Given the description of an element on the screen output the (x, y) to click on. 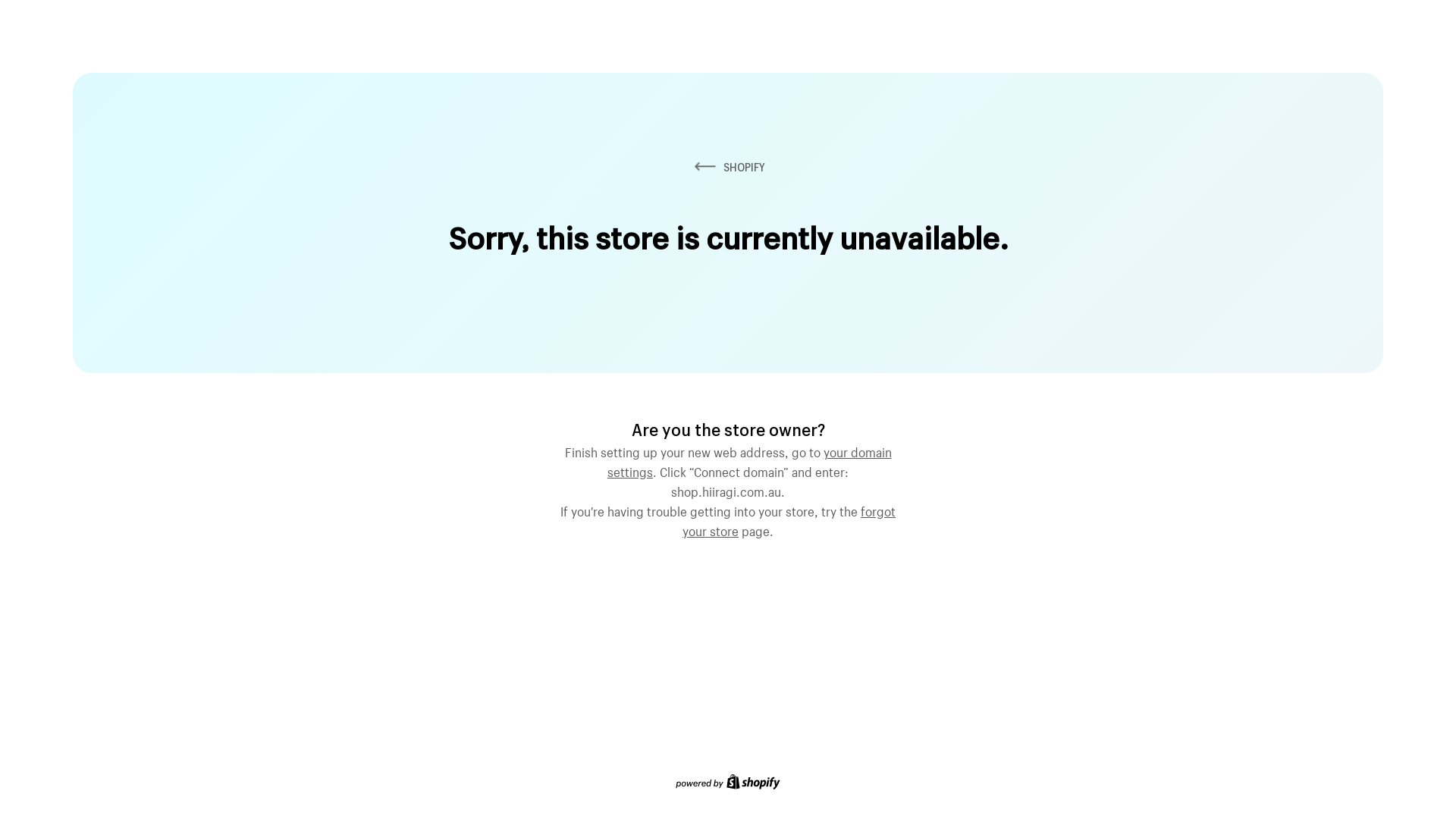
forgot your store Element type: text (788, 519)
your domain settings Element type: text (749, 460)
SHOPIFY Element type: text (727, 167)
